Given the description of an element on the screen output the (x, y) to click on. 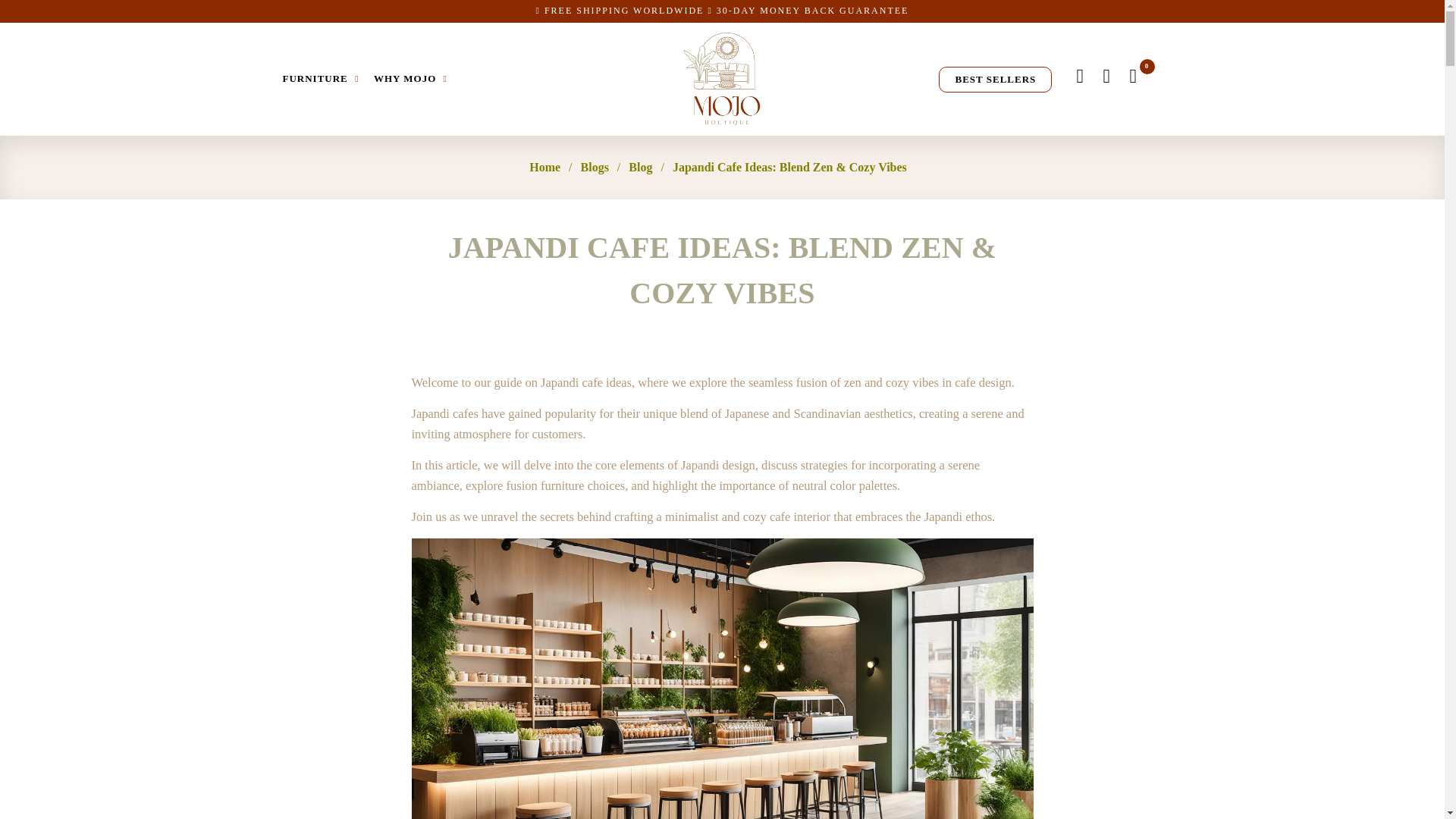
Mojo Boutique (721, 78)
My Account  (1106, 76)
Search (1080, 76)
